Given the description of an element on the screen output the (x, y) to click on. 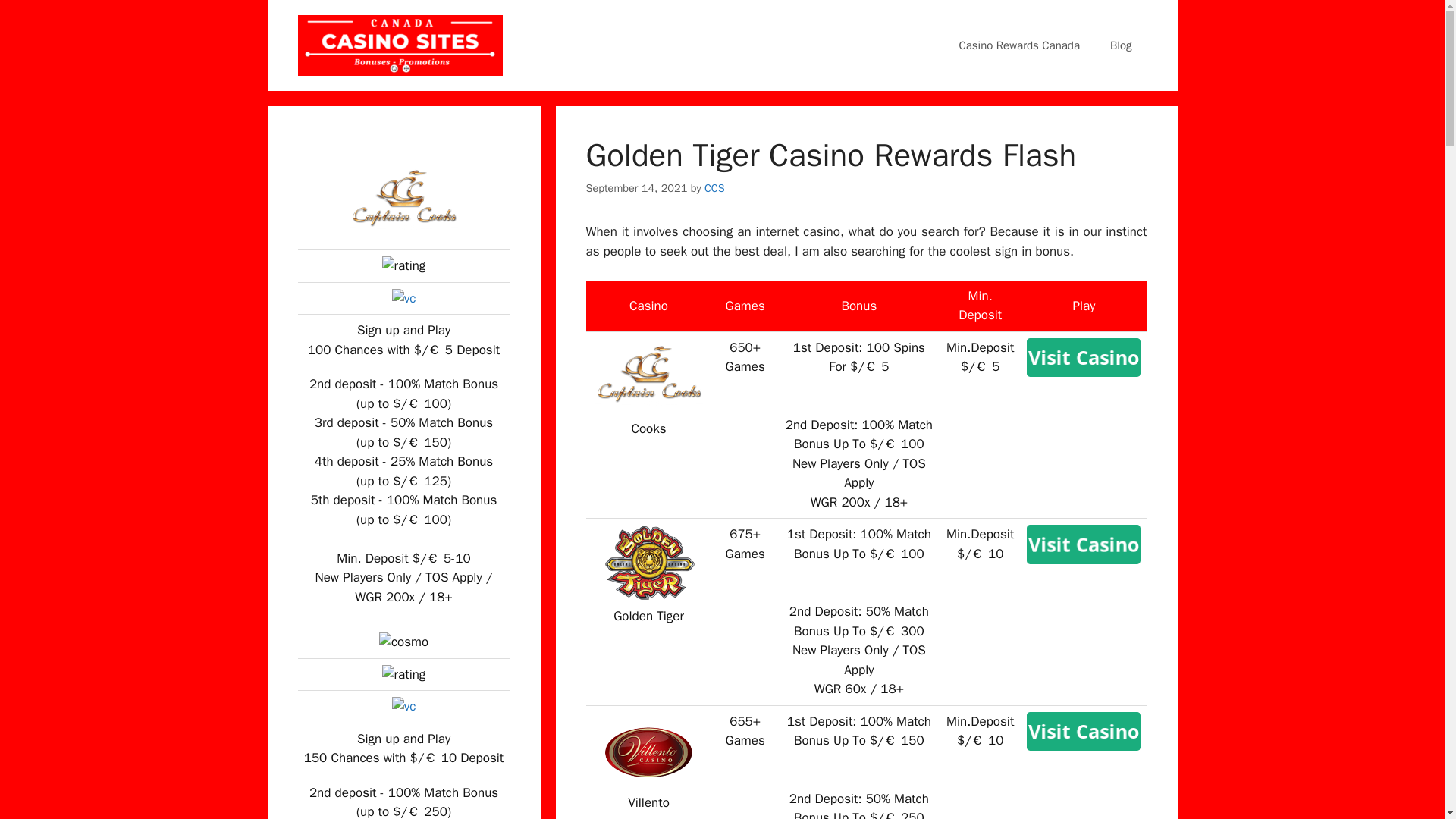
Casino Canada Sites (399, 44)
Casino Canada Sites (399, 45)
CCS (714, 187)
Casino Rewards Canada (1018, 44)
Blog (1120, 44)
View all posts by CCS (714, 187)
